Given the description of an element on the screen output the (x, y) to click on. 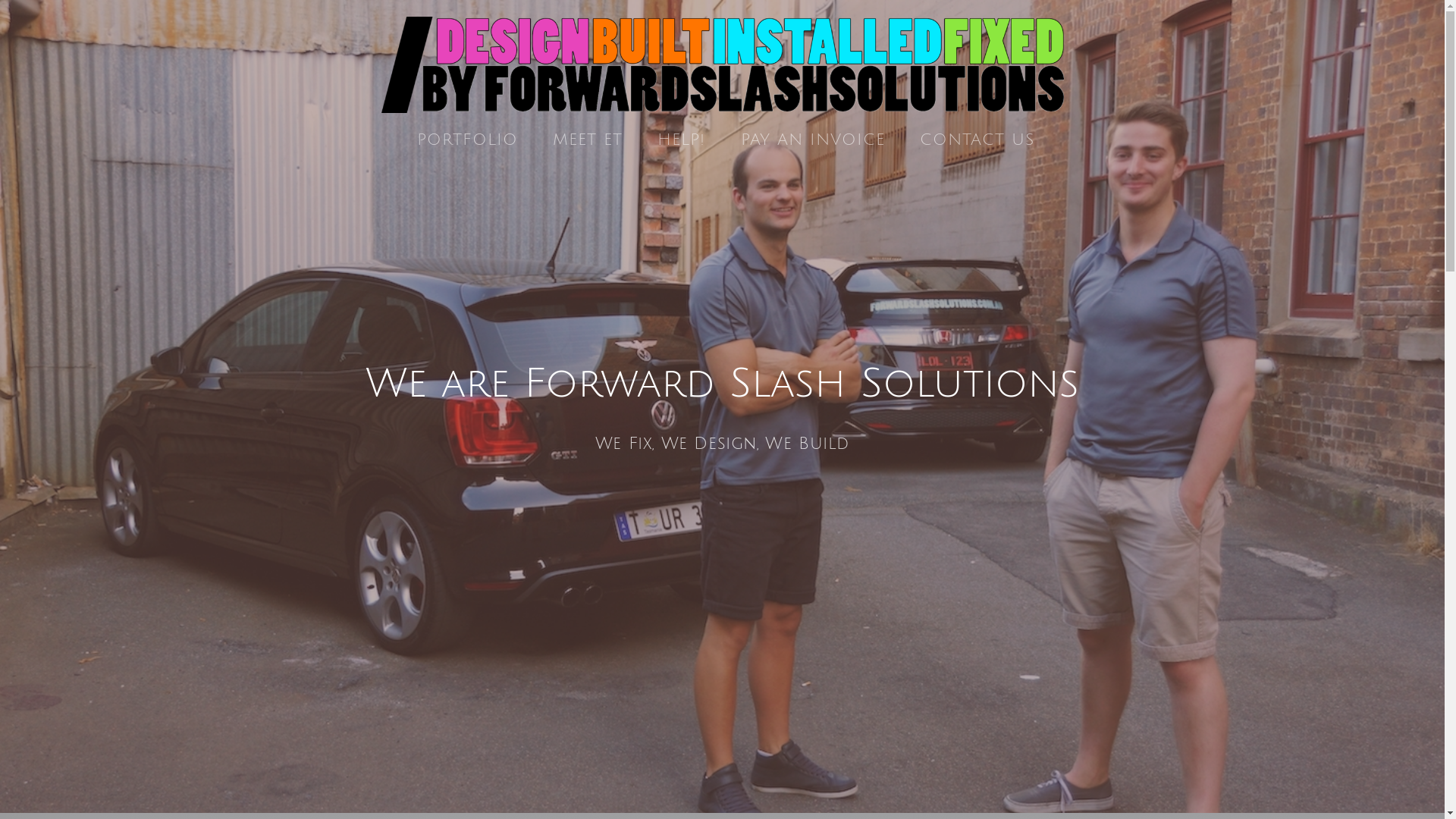
MEET ET Element type: text (587, 140)
PAY AN INVOICE Element type: text (812, 140)
PORTFOLIO Element type: text (467, 140)
HELP! Element type: text (681, 140)
CONTACT US Element type: text (976, 140)
